Given the description of an element on the screen output the (x, y) to click on. 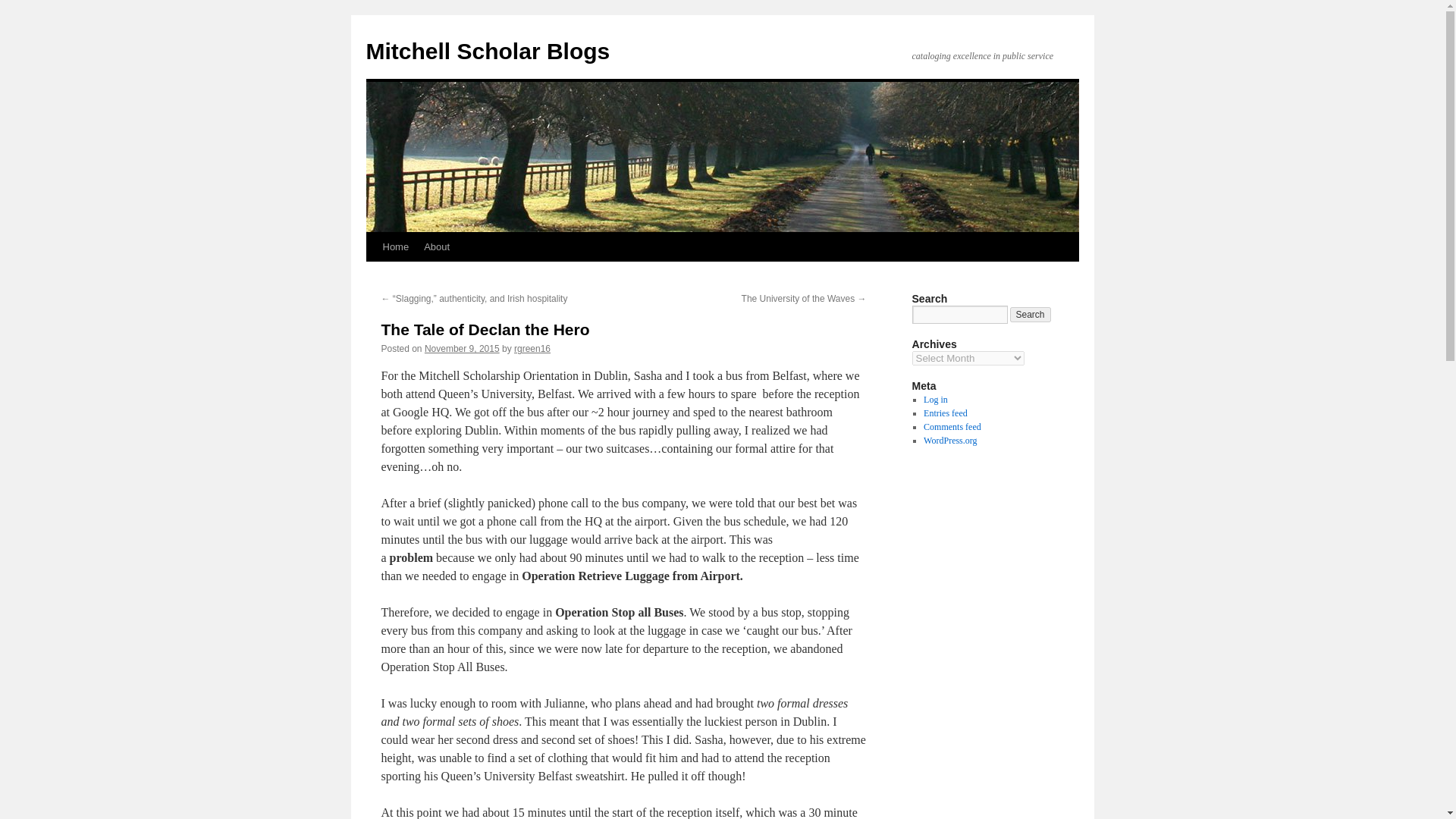
Comments feed (952, 426)
Entries feed (945, 412)
rgreen16 (531, 348)
View all posts by rgreen16 (531, 348)
Search (1030, 314)
9:27 pm (462, 348)
November 9, 2015 (462, 348)
Search (1030, 314)
Log in (935, 398)
Mitchell Scholar Blogs (487, 50)
